Given the description of an element on the screen output the (x, y) to click on. 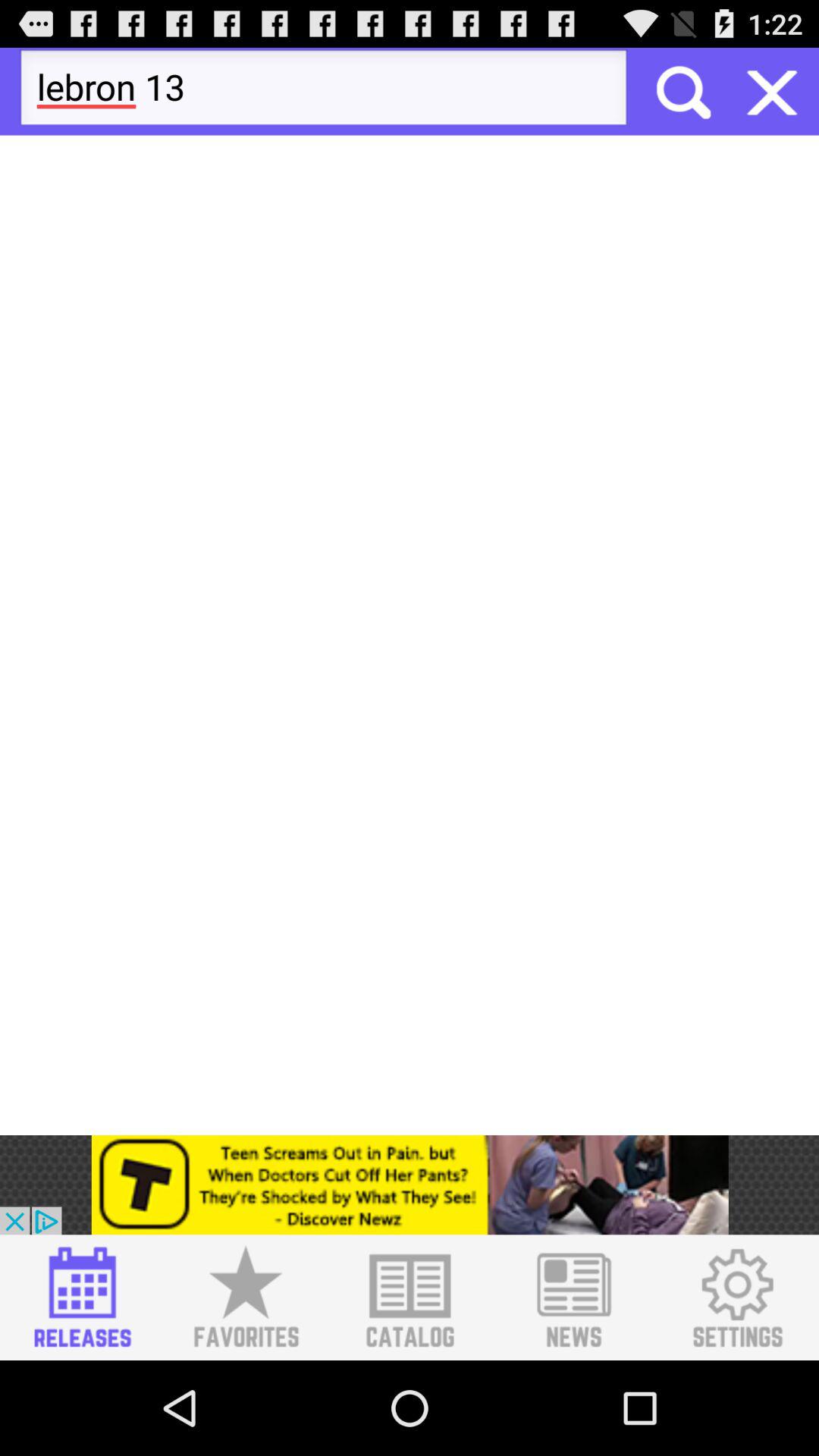
advertisement (81, 1297)
